Given the description of an element on the screen output the (x, y) to click on. 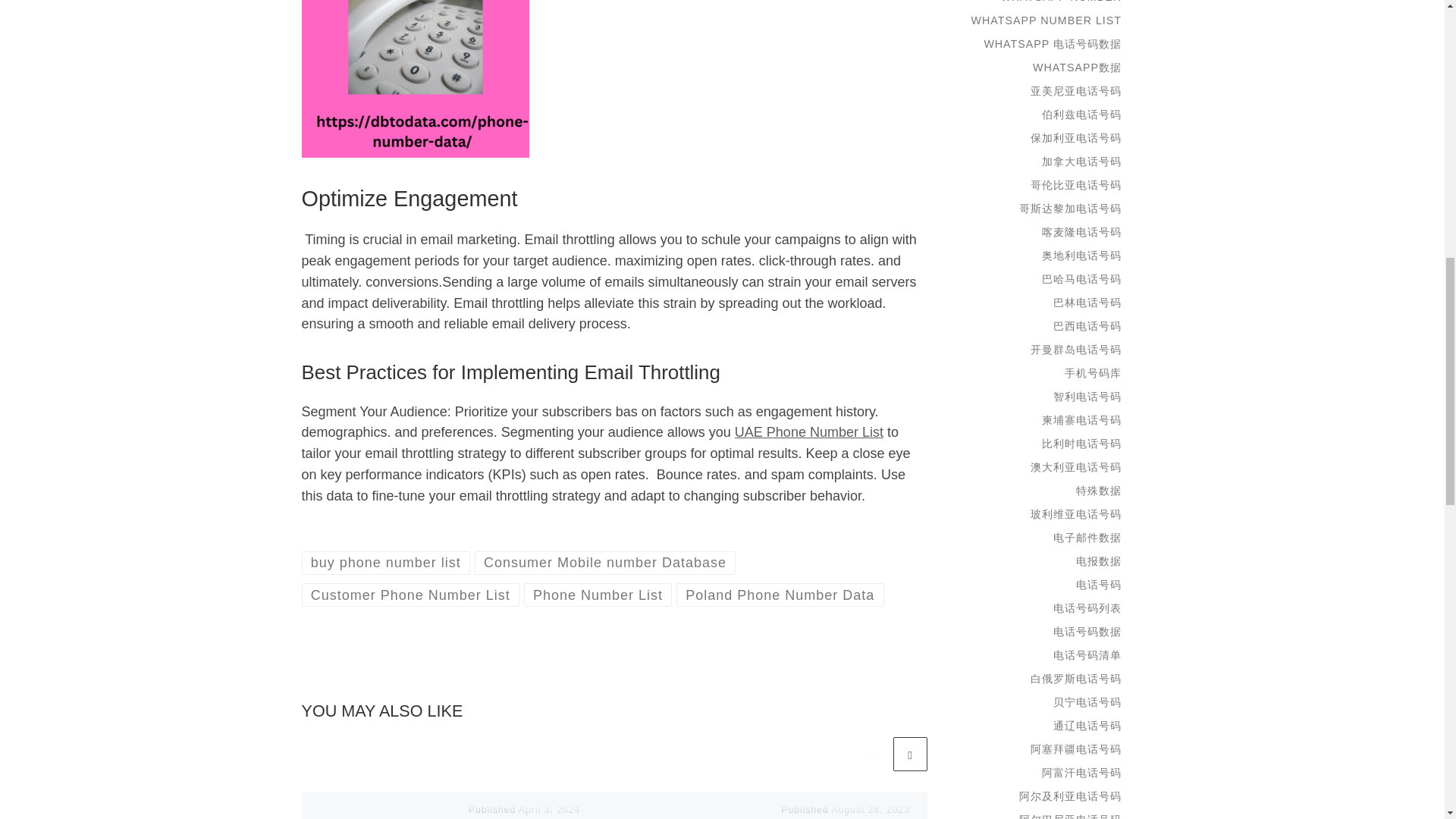
UAE Phone Number List (809, 432)
View all posts in Poland Phone Number Data (780, 594)
View all posts in buy phone number list (385, 562)
Phone Number List (598, 594)
Poland Phone Number Data (780, 594)
Next related articles (910, 754)
August 28, 2023 (870, 809)
Previous related articles (872, 754)
buy phone number list (385, 562)
Consumer Mobile number Database (605, 562)
